Given the description of an element on the screen output the (x, y) to click on. 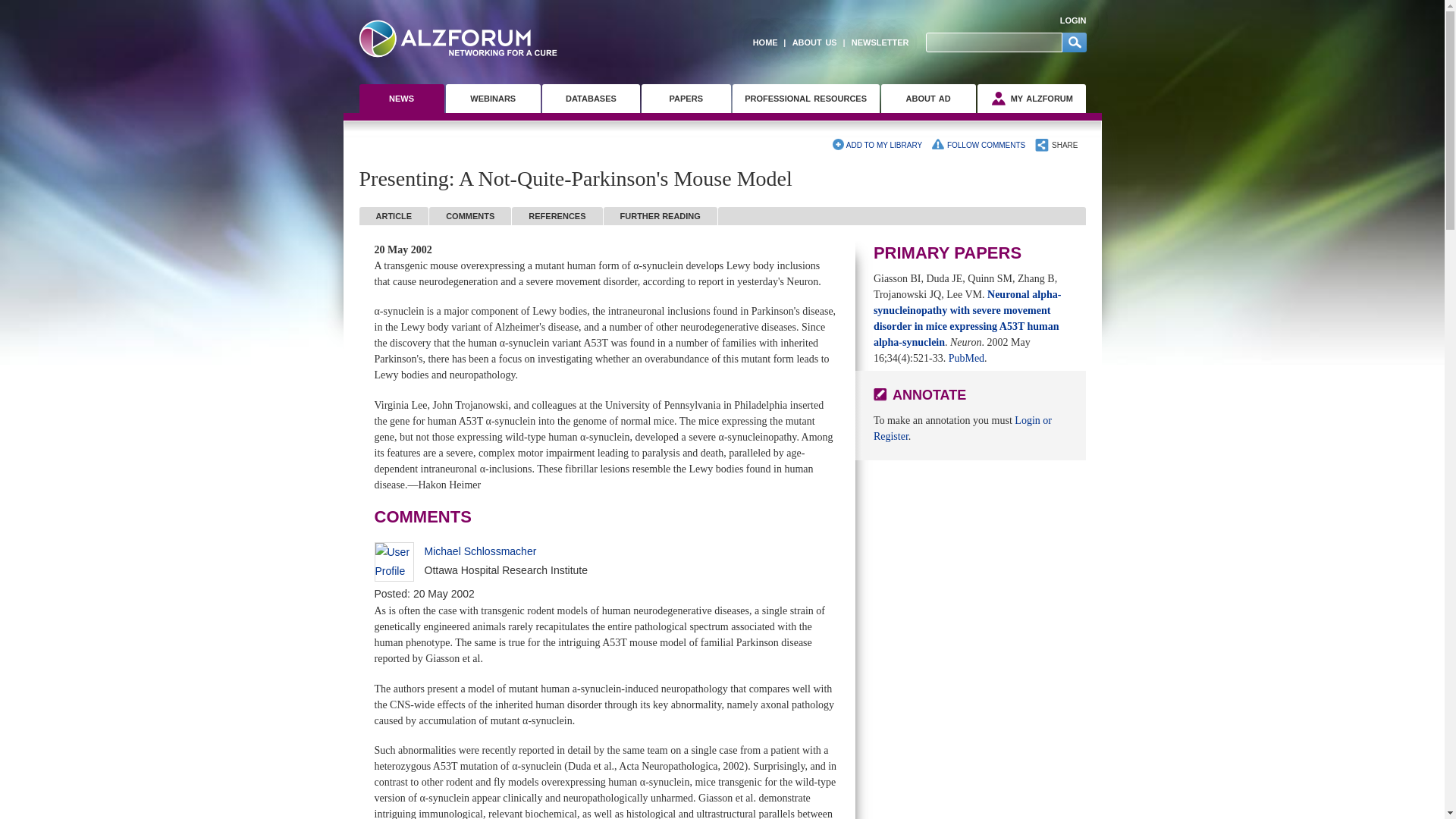
The Landing page for All News (401, 98)
COMMENTS (470, 216)
ADD TO MY LIBRARY (876, 145)
Michael Schlossmacher (481, 551)
Home (457, 38)
FOLLOW COMMENTS (978, 145)
REFERENCES (557, 216)
Go (1073, 42)
Add this post to my library (876, 145)
ARTICLE (394, 216)
